Given the description of an element on the screen output the (x, y) to click on. 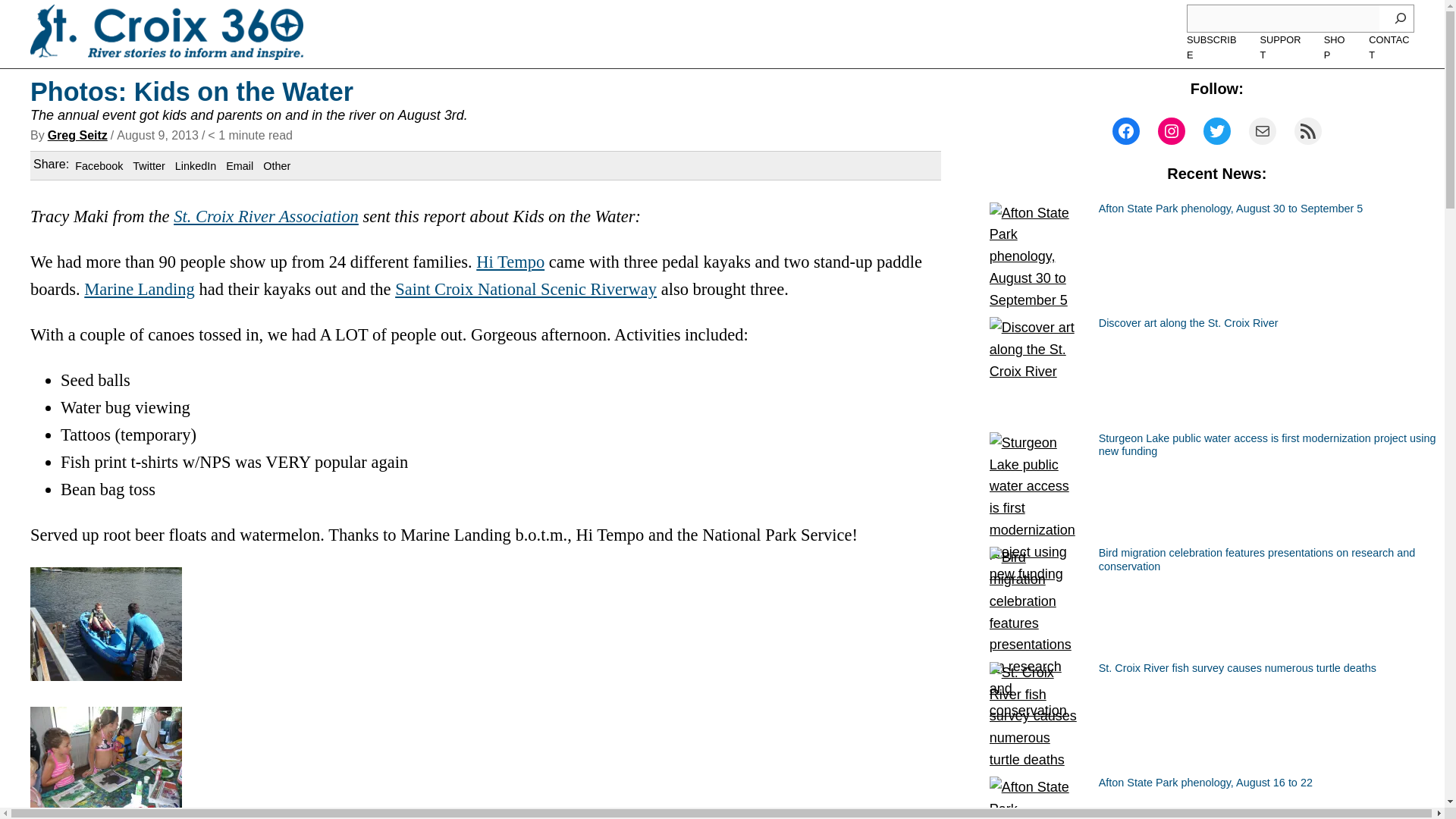
Instagram (1171, 130)
Email (239, 165)
Discover art along the St. Croix River (1188, 323)
Mail (1262, 130)
Twitter (148, 165)
LinkedIn (194, 165)
Twitter (1217, 130)
Hi Tempo (510, 261)
Greg Seitz (77, 134)
